Given the description of an element on the screen output the (x, y) to click on. 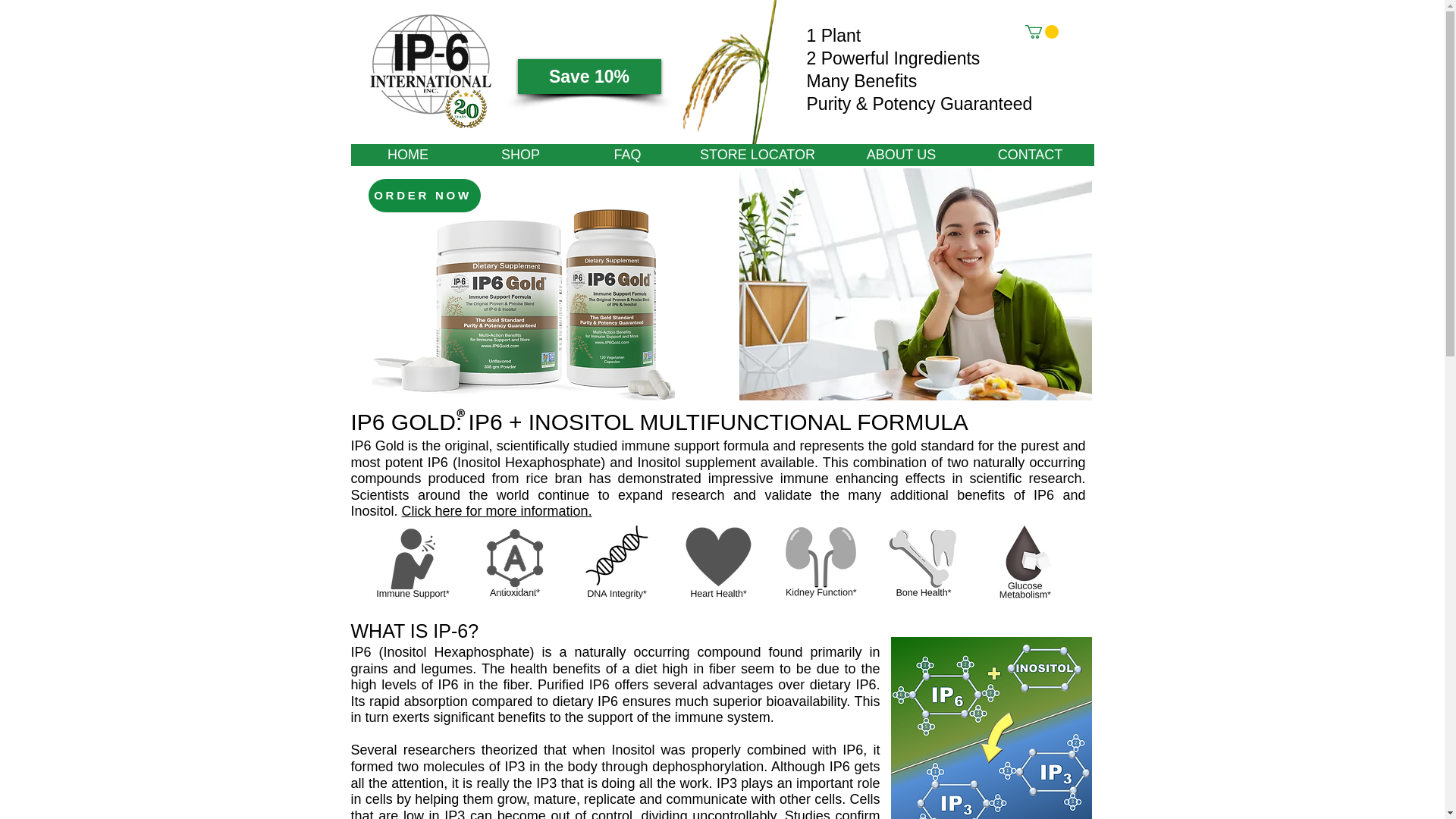
SHOP (520, 155)
HOME (407, 155)
FAQ (627, 155)
Click here for more information. (496, 510)
ABOUT US (900, 155)
STORE LOCATOR (757, 155)
ORDER NOW (424, 195)
CONTACT (1029, 155)
